Given the description of an element on the screen output the (x, y) to click on. 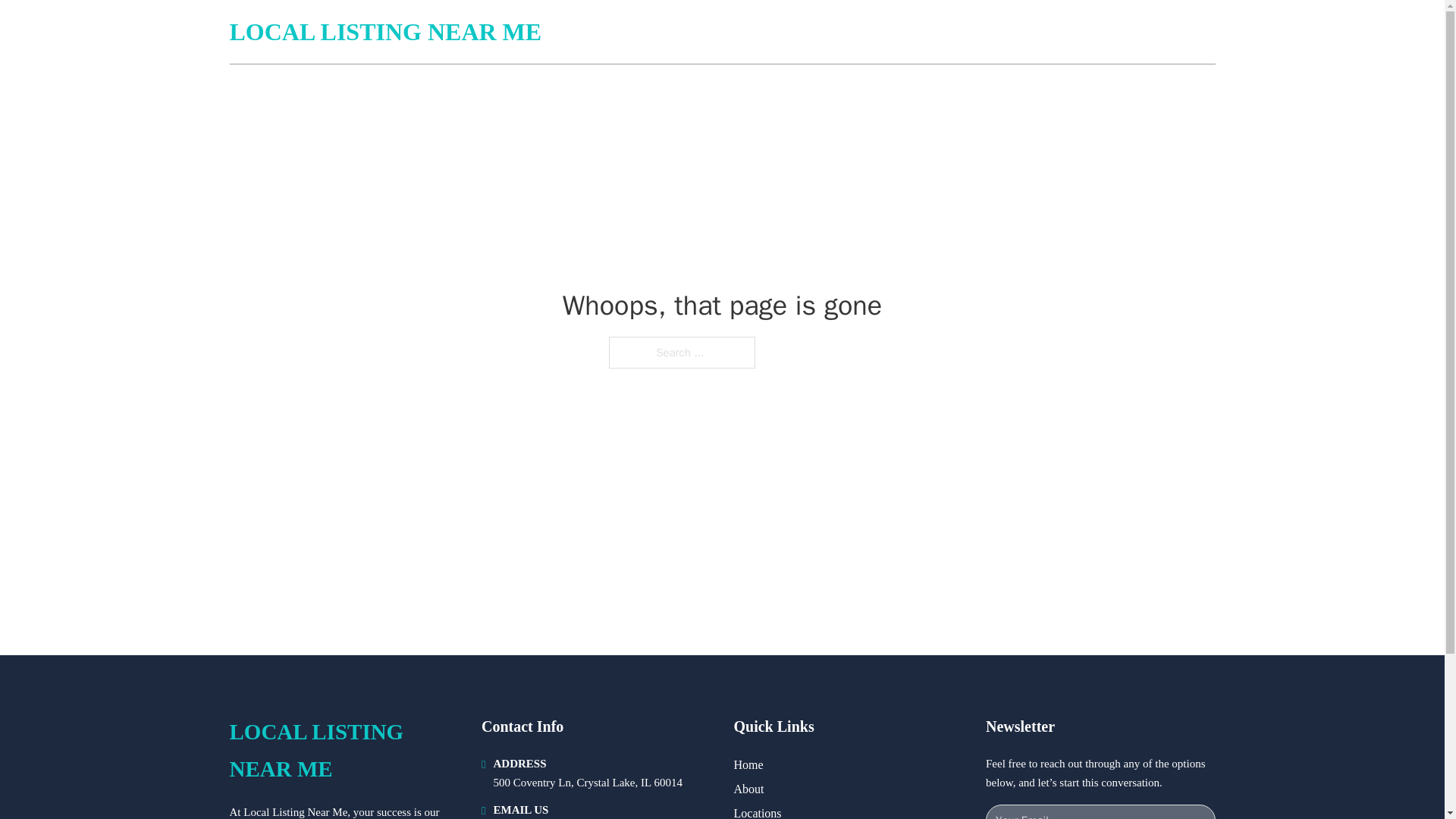
Home (747, 764)
HOME (1032, 31)
LOCAL LISTING NEAR ME (384, 31)
Locations (757, 811)
About (748, 788)
LOCATIONS (1105, 31)
LOCAL LISTING NEAR ME (343, 750)
